Given the description of an element on the screen output the (x, y) to click on. 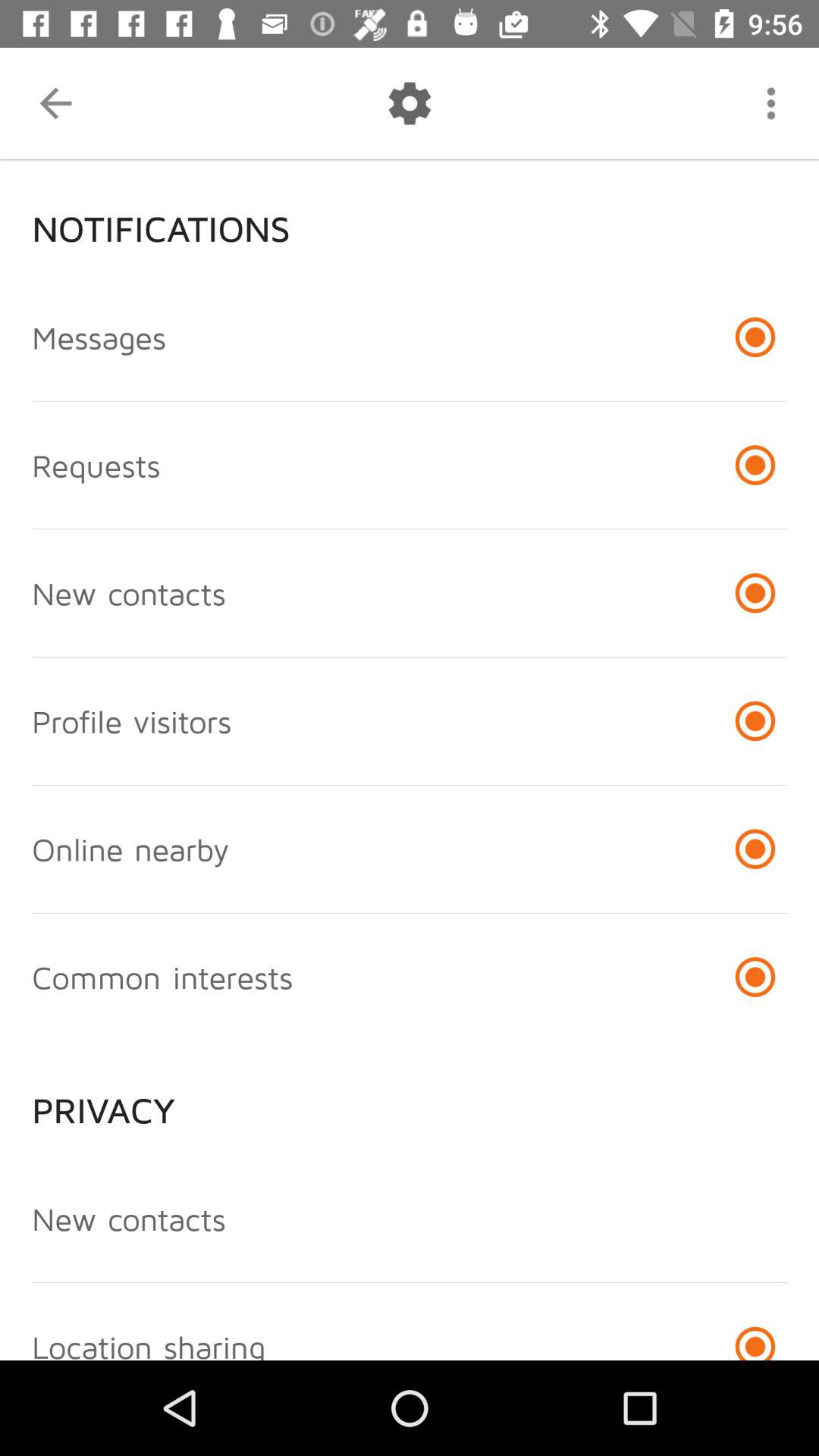
choose the item above privacy icon (161, 976)
